Given the description of an element on the screen output the (x, y) to click on. 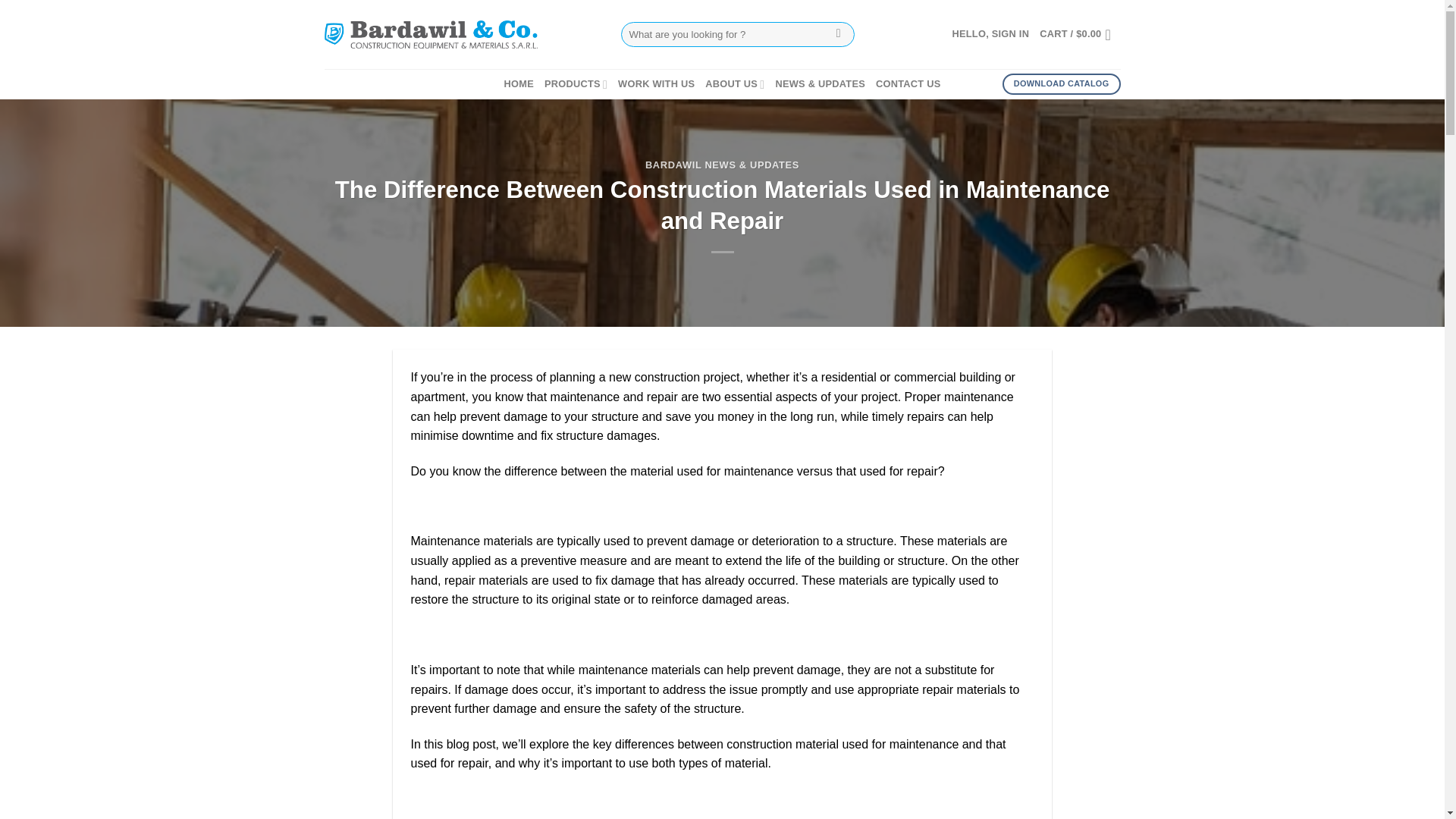
HOME (518, 83)
ABOUT US (734, 83)
Cart (1079, 34)
HELLO, SIGN IN (990, 33)
Search (837, 34)
WORK WITH US (655, 83)
PRODUCTS (575, 83)
